Given the description of an element on the screen output the (x, y) to click on. 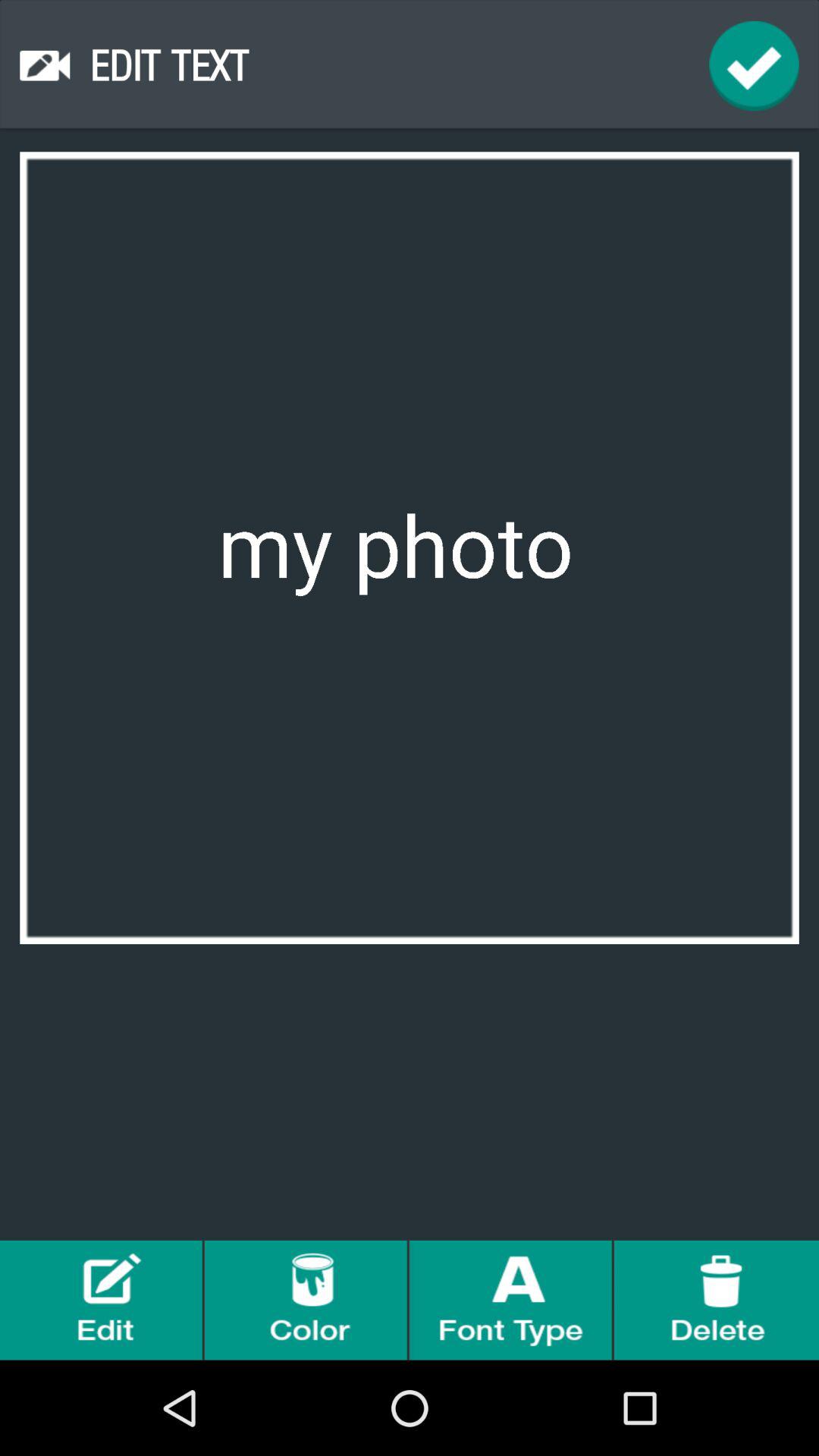
done buttom (754, 65)
